Given the description of an element on the screen output the (x, y) to click on. 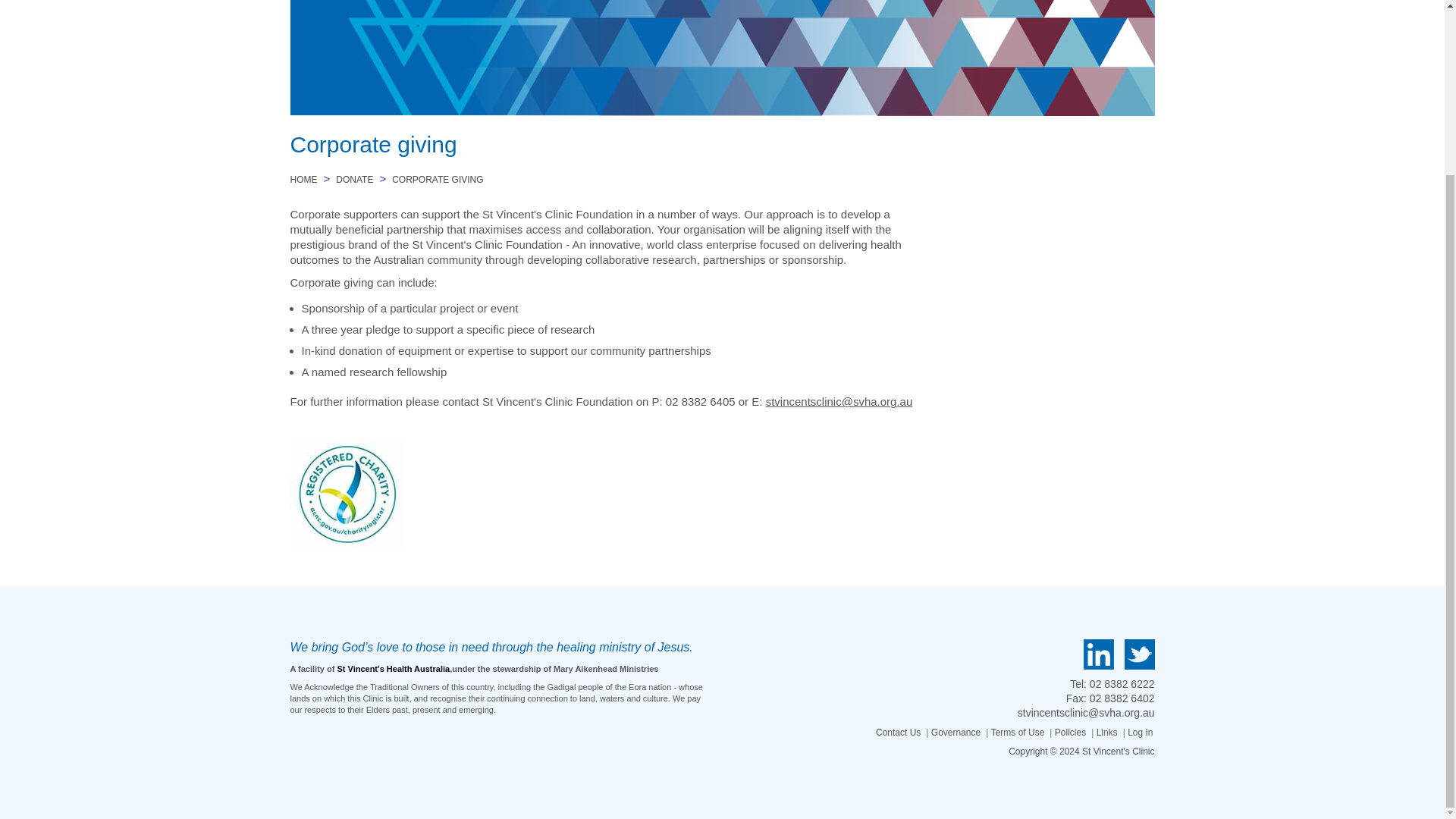
Contact Us (898, 732)
Terms of Use (1018, 732)
Log In (1140, 732)
CORPORATE GIVING (437, 179)
Policies (1070, 732)
Governance (956, 732)
HOME (303, 179)
Links (1107, 732)
DONATE (354, 179)
